Given the description of an element on the screen output the (x, y) to click on. 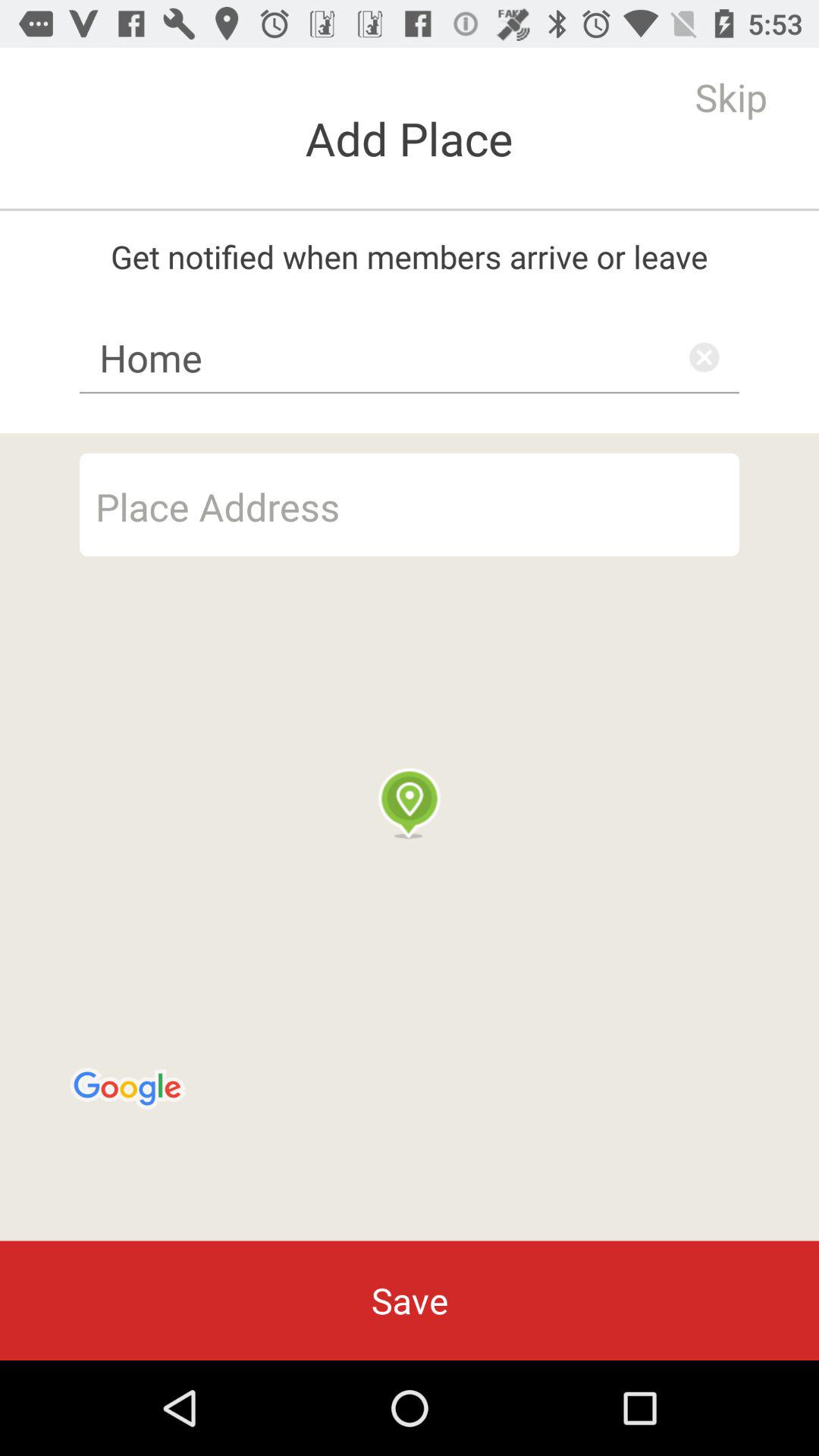
scroll to 77 van ness icon (409, 504)
